Given the description of an element on the screen output the (x, y) to click on. 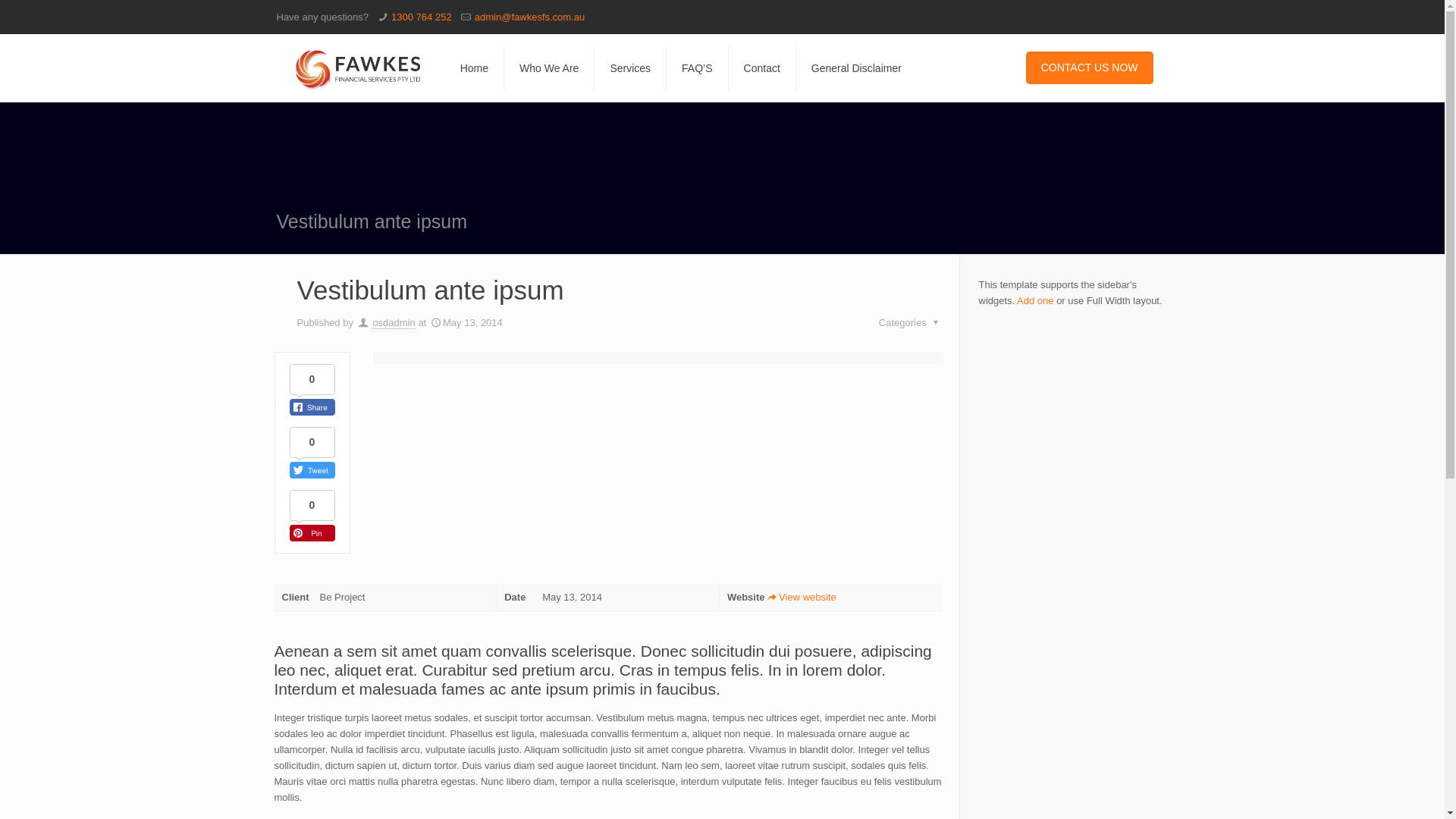
Who We Are Element type: text (549, 68)
CONTACT US NOW Element type: text (1089, 67)
osdadmin Element type: text (393, 322)
View website Element type: text (800, 596)
Services Element type: text (630, 68)
Fawkes Financial Services Element type: hover (356, 68)
1300 764 252 Element type: text (421, 16)
Home Element type: text (474, 68)
Add one Element type: text (1034, 300)
Contact Element type: text (762, 68)
General Disclaimer Element type: text (856, 68)
Home Element type: text (1023, 220)
admin@fawkesfs.com.au Element type: text (529, 16)
